Given the description of an element on the screen output the (x, y) to click on. 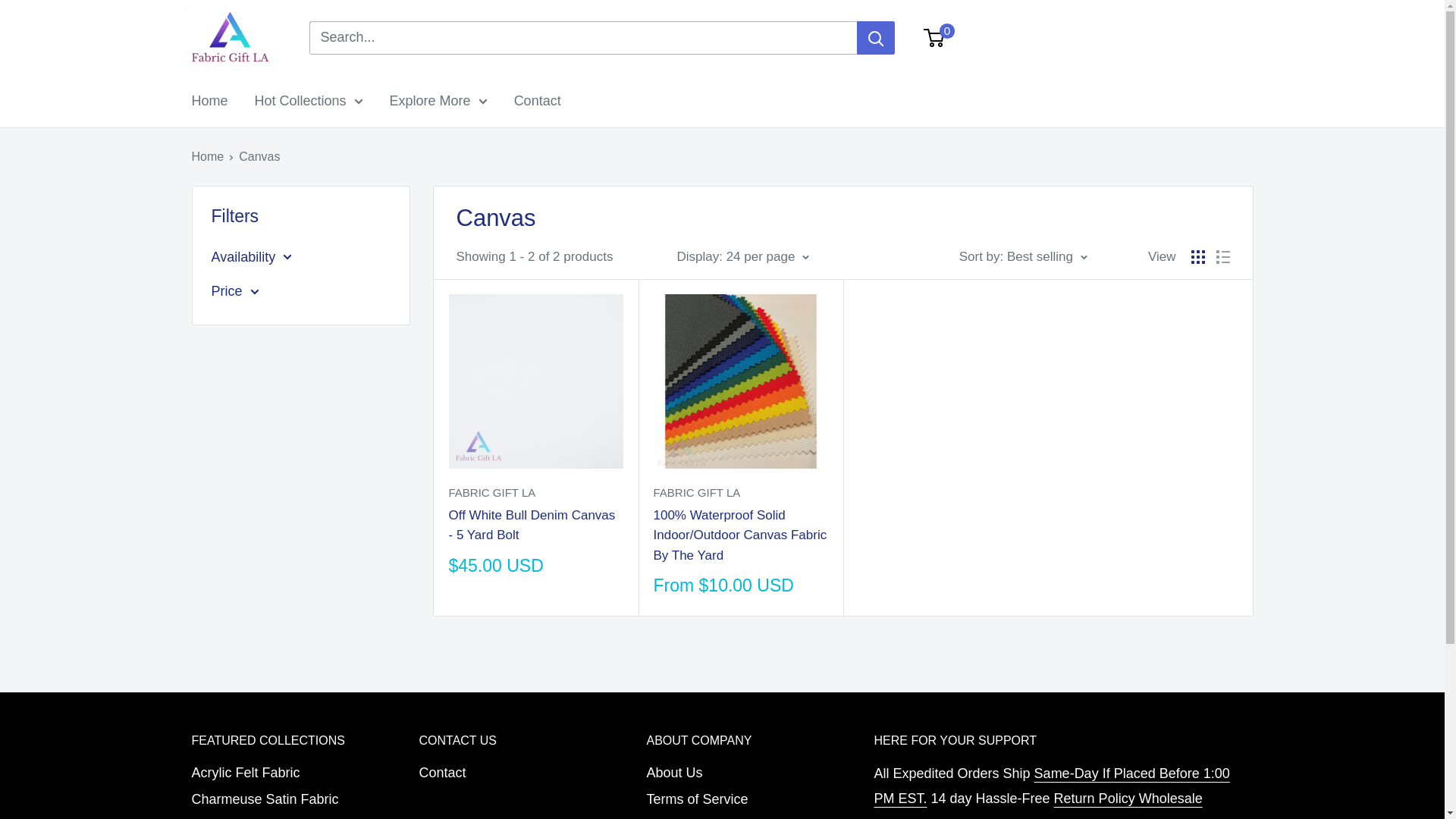
SHIPPING POLICY (1050, 785)
Returns policy (1096, 798)
